Given the description of an element on the screen output the (x, y) to click on. 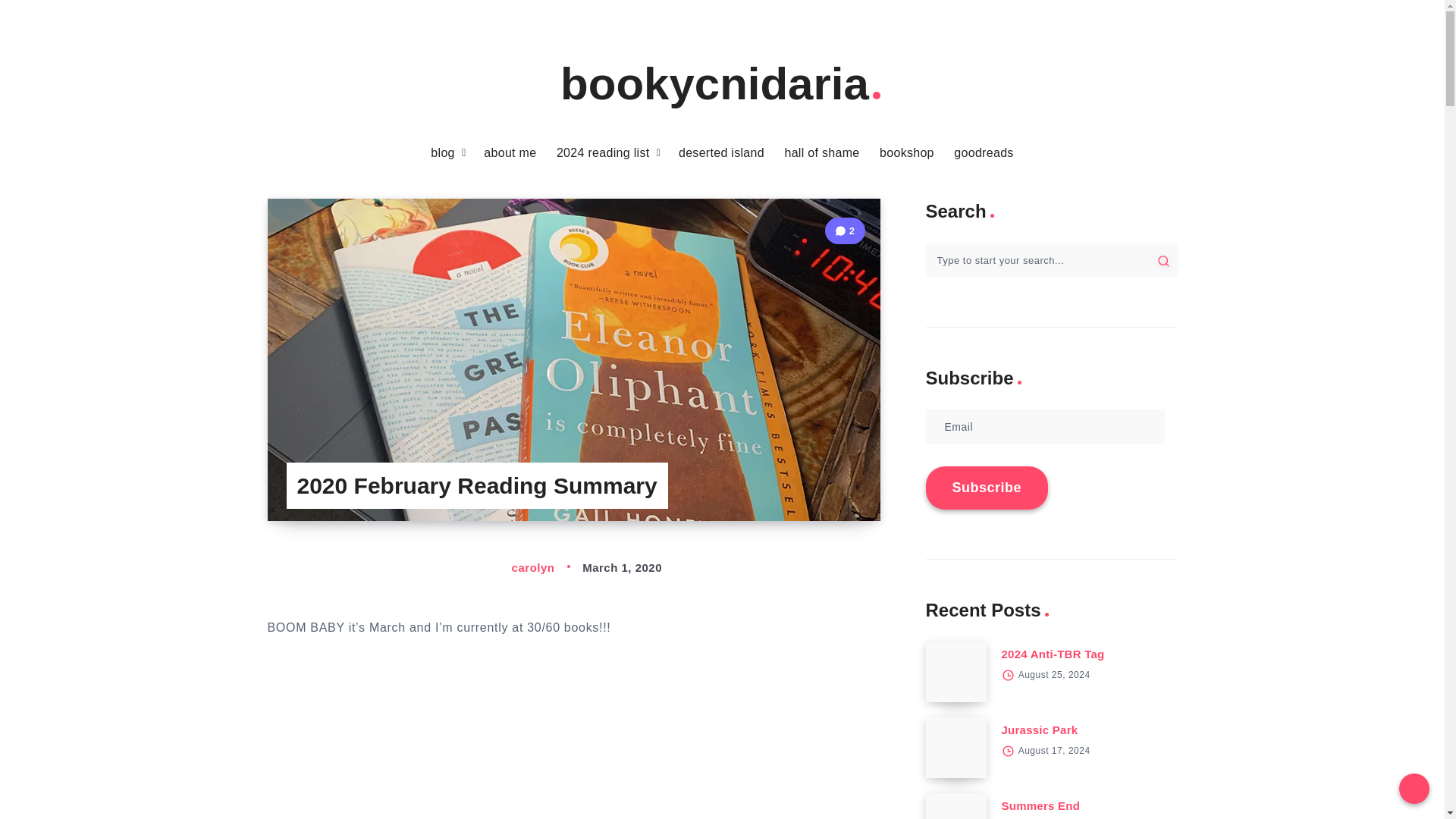
bookycnidaria (721, 83)
Author: carolyn (516, 567)
blog (442, 152)
2 Comments (845, 230)
